Given the description of an element on the screen output the (x, y) to click on. 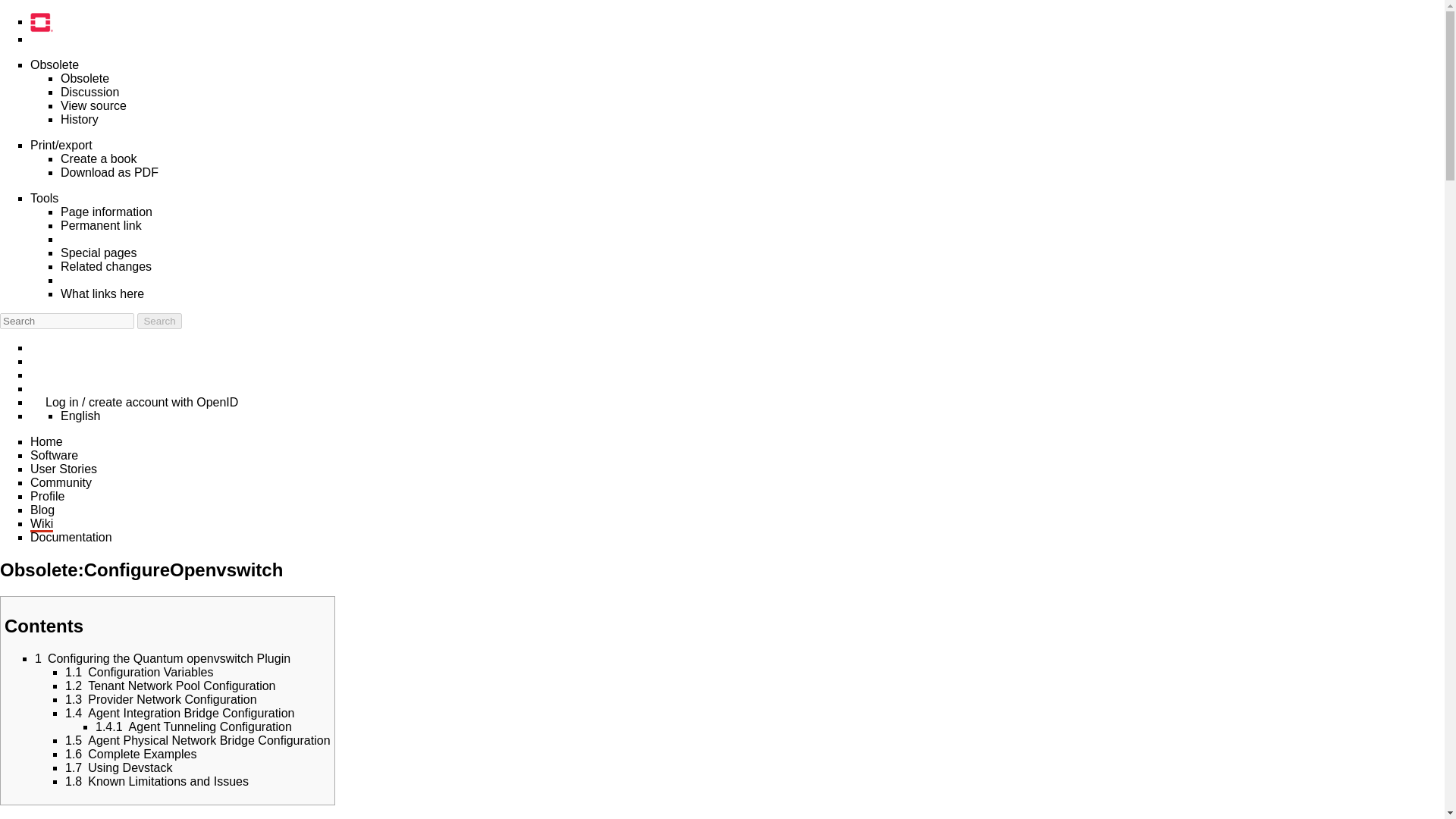
Discussion (90, 91)
English (80, 415)
1.7 Using Devstack (118, 767)
Page information (106, 211)
History (80, 119)
Permanent link (101, 225)
View source (93, 105)
Home (46, 440)
Obsolete (54, 64)
Related changes (106, 266)
Search (158, 320)
Obsolete (85, 78)
More information about this page (106, 211)
1.1 Configuration Variables (138, 671)
Search (158, 320)
